Given the description of an element on the screen output the (x, y) to click on. 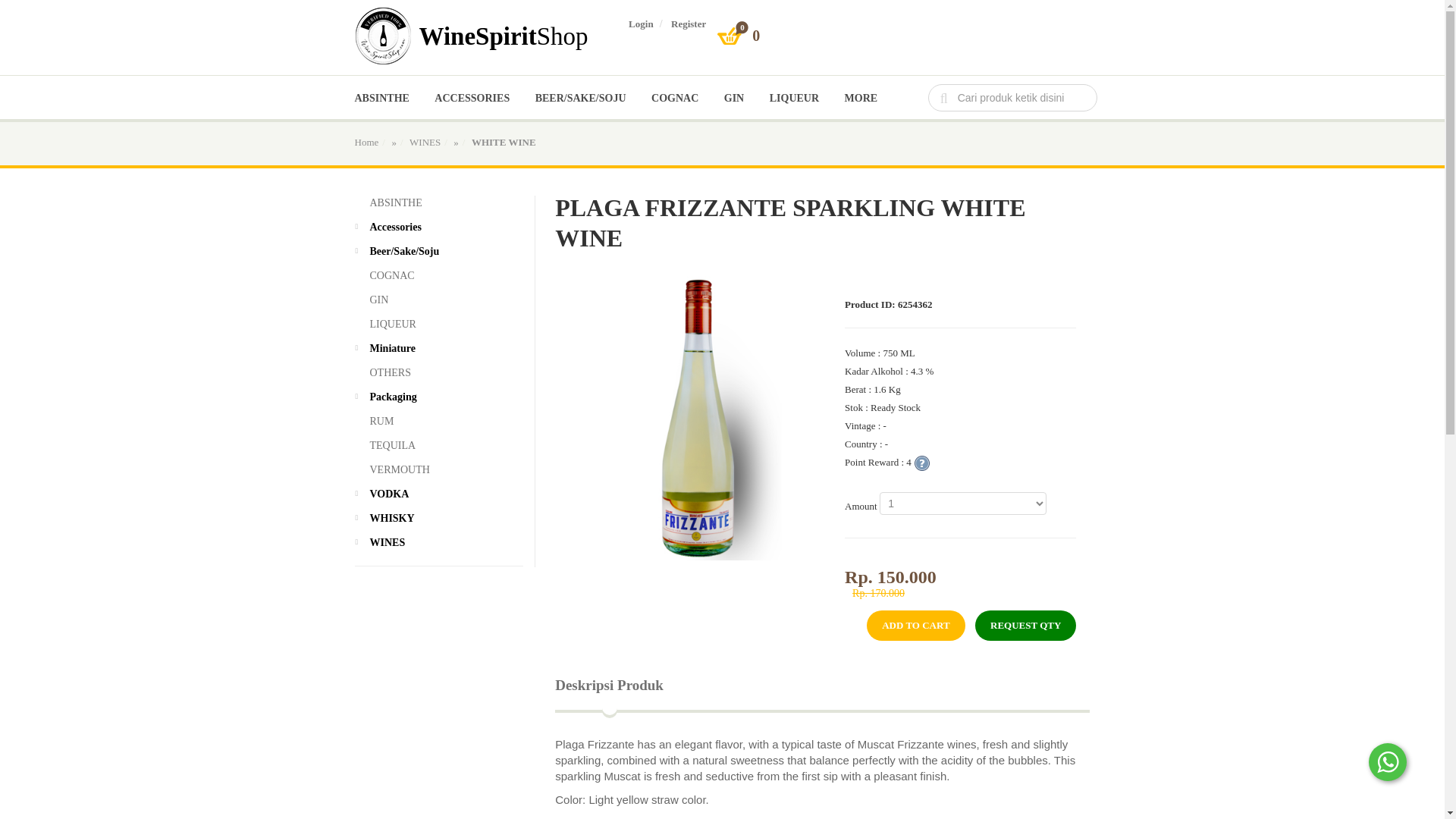
WineSpiritShop (501, 32)
Go (24, 13)
LIQUEUR (794, 98)
Login (640, 23)
Home (366, 142)
Register (688, 23)
MORE (860, 98)
Accessories (439, 227)
ABSINTHE (395, 202)
ABSINTHE (382, 98)
ACCESSORIES (471, 98)
COGNAC (674, 98)
GIN (733, 98)
